Given the description of an element on the screen output the (x, y) to click on. 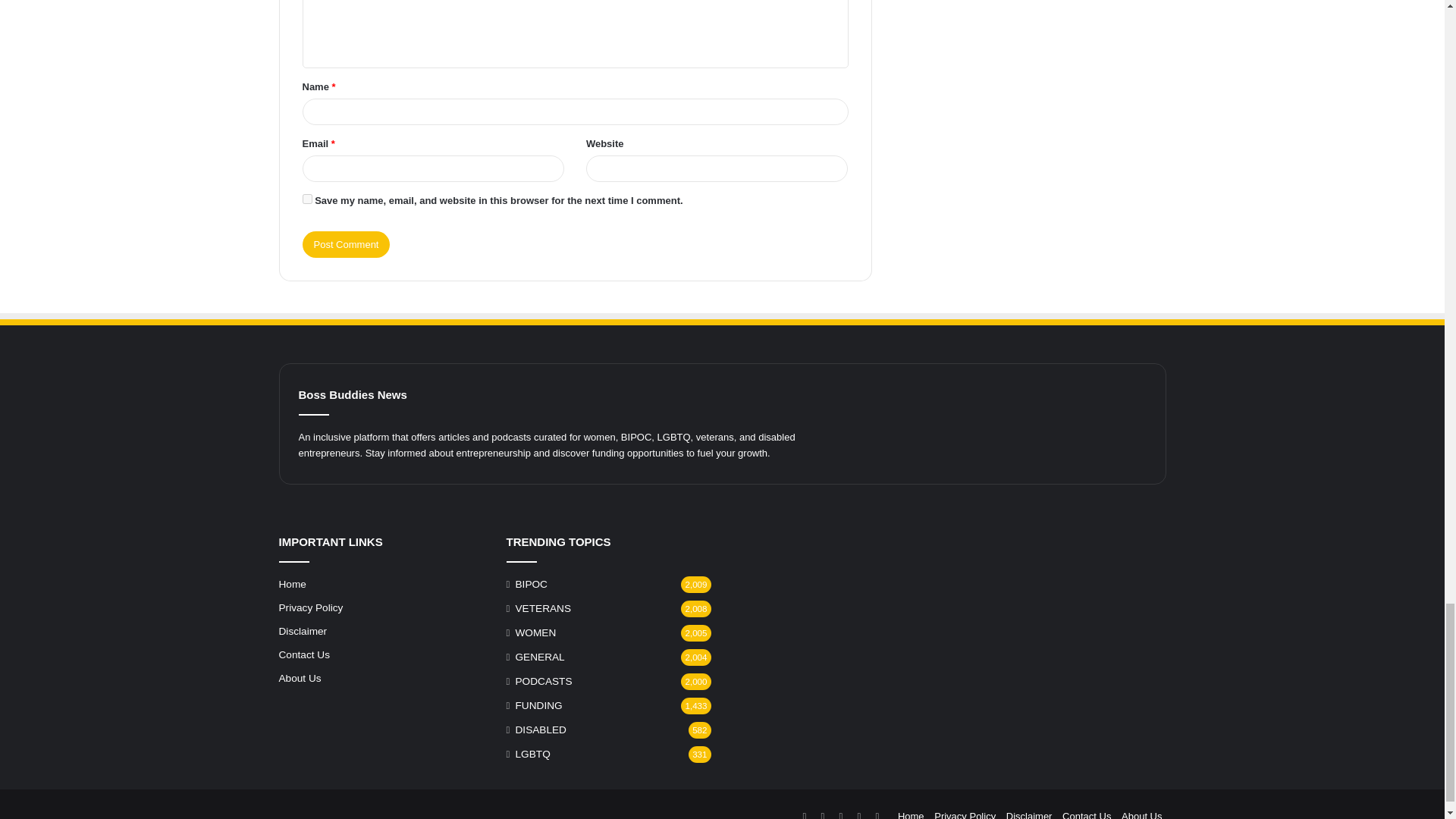
Post Comment (345, 243)
yes (306, 198)
